Given the description of an element on the screen output the (x, y) to click on. 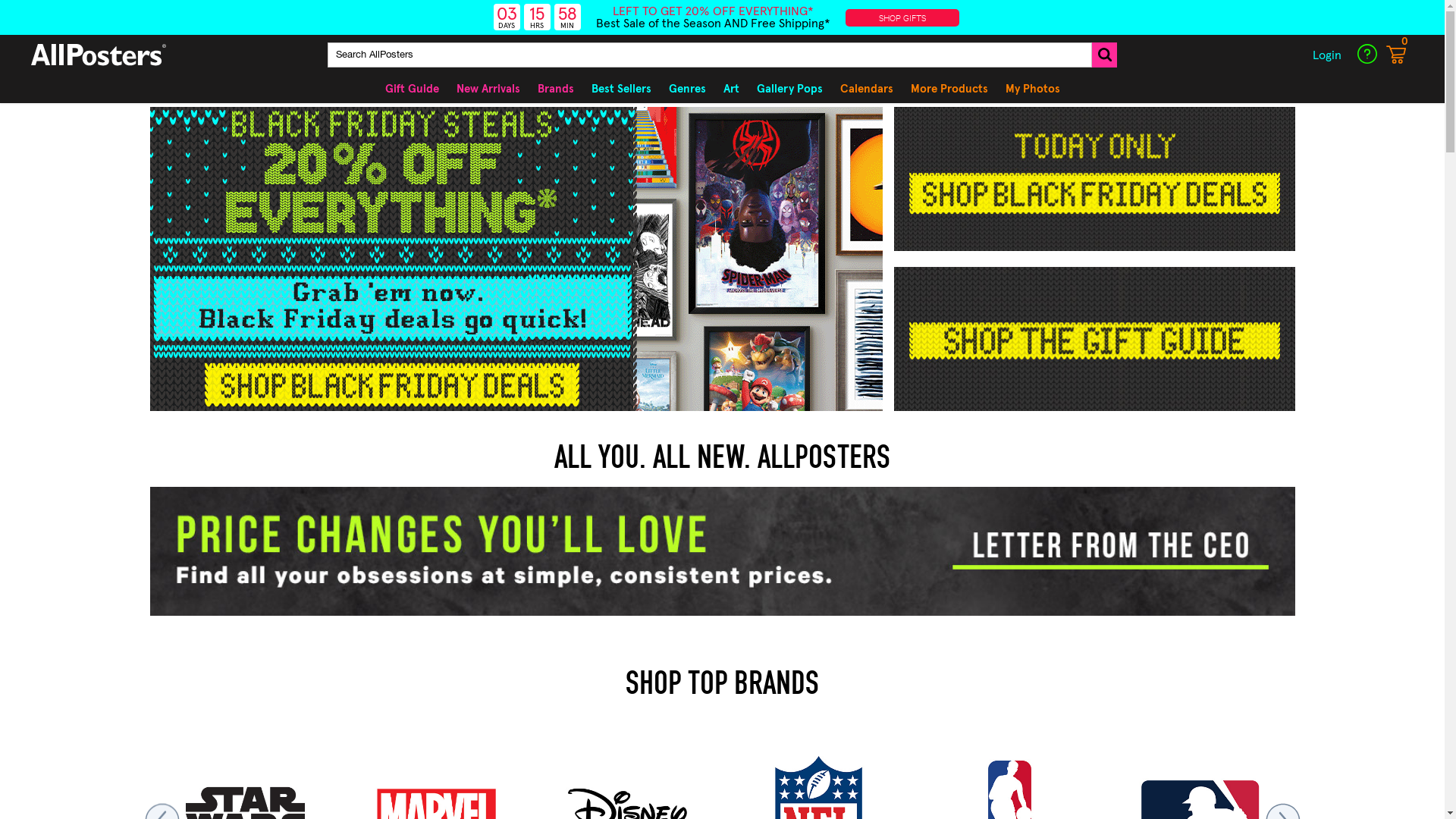
0 Element type: text (1395, 60)
More Products Element type: text (948, 88)
Cart Element type: hover (1395, 54)
Genres Element type: text (687, 88)
New Arrivals Element type: text (487, 88)
Gallery Pops Element type: text (789, 88)
Help Element type: hover (1366, 53)
Gift Guide Element type: text (411, 88)
My Photos Element type: text (1032, 88)
Login Element type: text (1326, 55)
Art Element type: text (730, 88)
Best Sellers Element type: text (620, 88)
Brands Element type: text (554, 88)
Calendars Element type: text (866, 88)
